Given the description of an element on the screen output the (x, y) to click on. 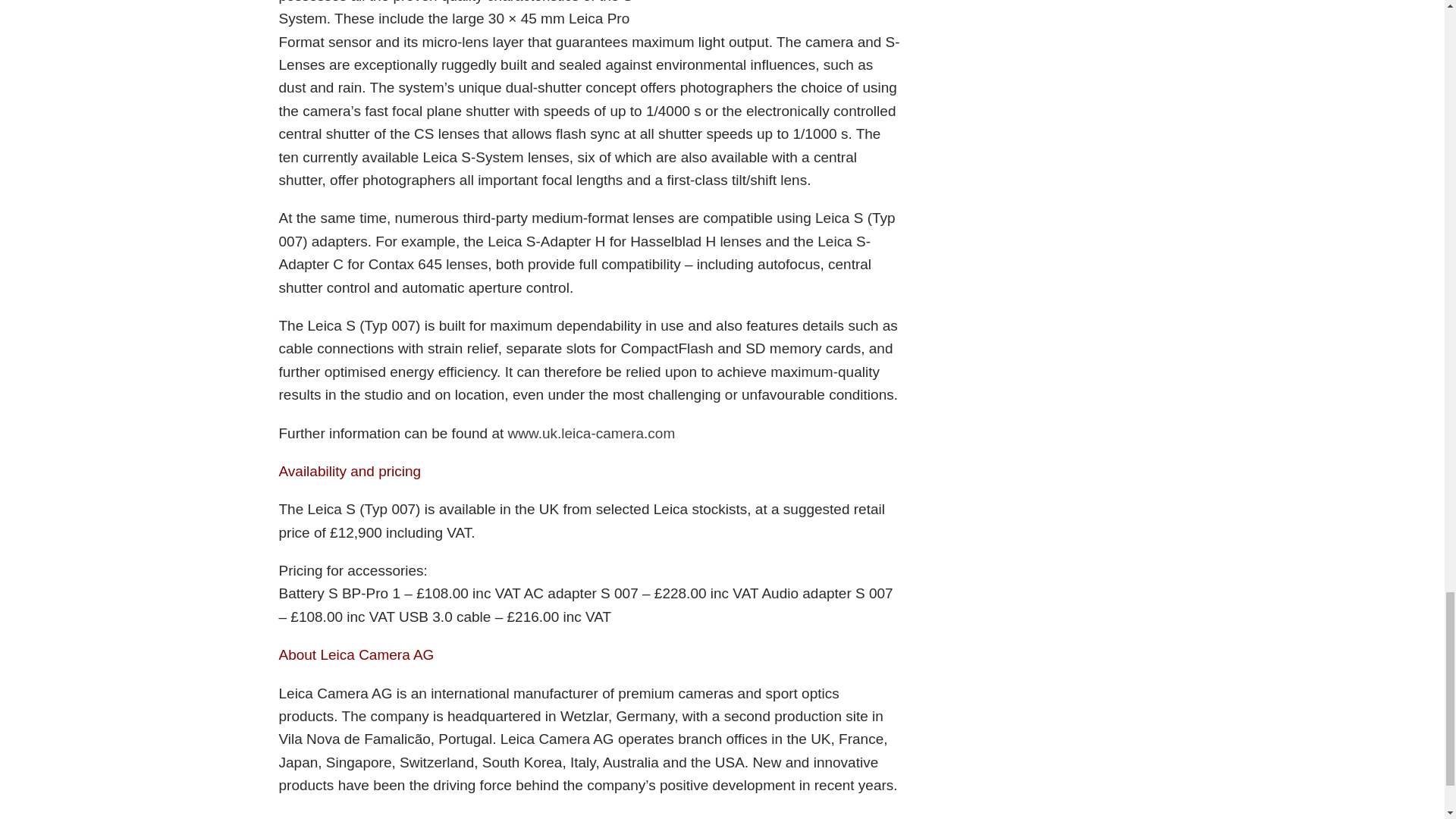
Page 2 (590, 95)
www.uk.leica-camera.com (591, 433)
